Given the description of an element on the screen output the (x, y) to click on. 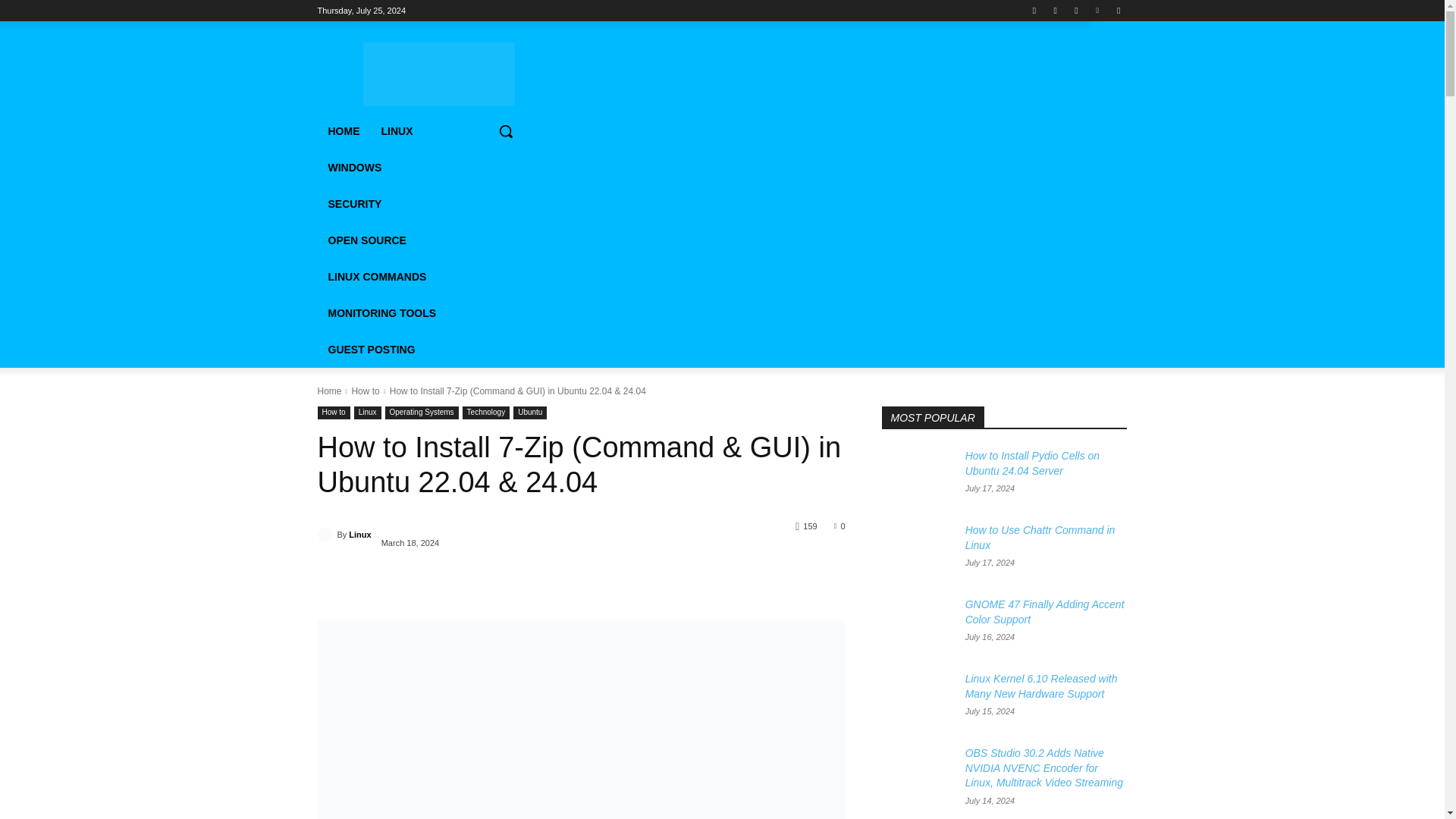
Facebook (1034, 9)
MONITORING TOOLS (381, 312)
How to (333, 412)
Home (328, 390)
Linux (360, 534)
OPEN SOURCE (366, 239)
SECURITY (354, 203)
How to (364, 390)
HOME (343, 131)
0 (839, 524)
Twitter (1075, 9)
Technology (487, 412)
Ubuntu (530, 412)
LINUX (396, 131)
LINUX COMMANDS (376, 276)
